Given the description of an element on the screen output the (x, y) to click on. 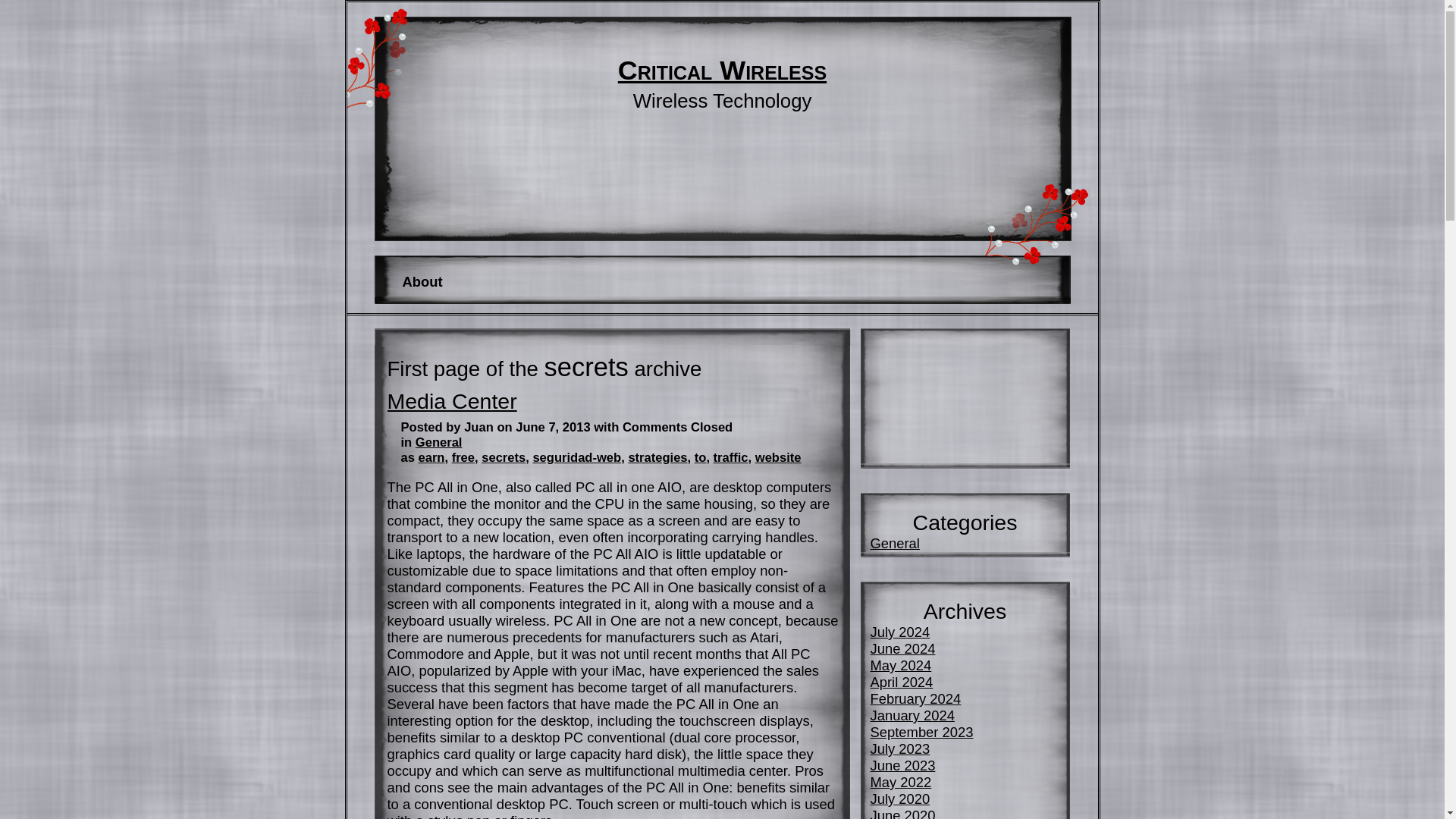
June 2023 (903, 765)
seguridad-web (576, 457)
June 2024 (903, 648)
secrets (503, 457)
Permanent Link to Media Center (451, 401)
Critical Wireless (722, 70)
May 2024 (900, 665)
strategies (657, 457)
free (462, 457)
June 2020 (903, 813)
July 2024 (900, 631)
January 2024 (912, 715)
General (895, 543)
May 2022 (900, 781)
About (422, 281)
